Given the description of an element on the screen output the (x, y) to click on. 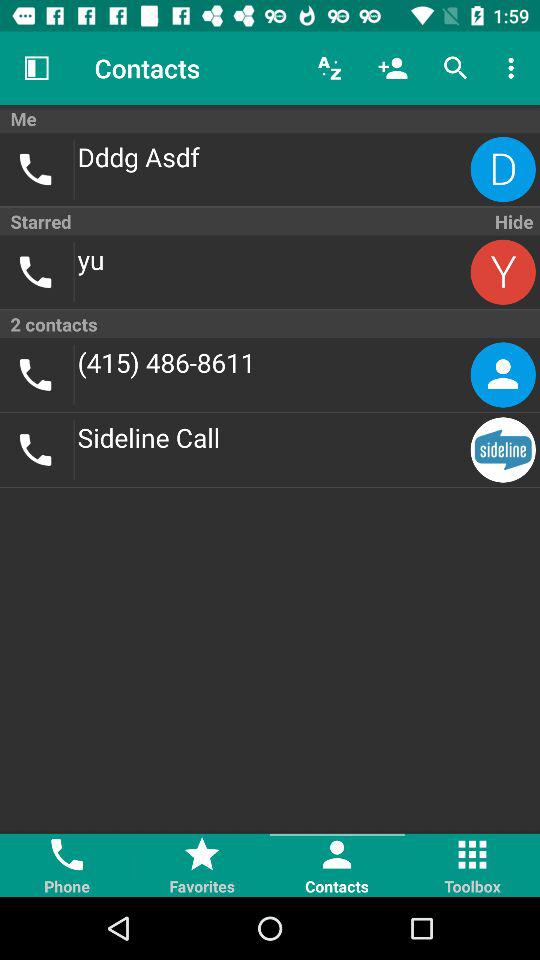
launch the item above the me item (513, 67)
